Given the description of an element on the screen output the (x, y) to click on. 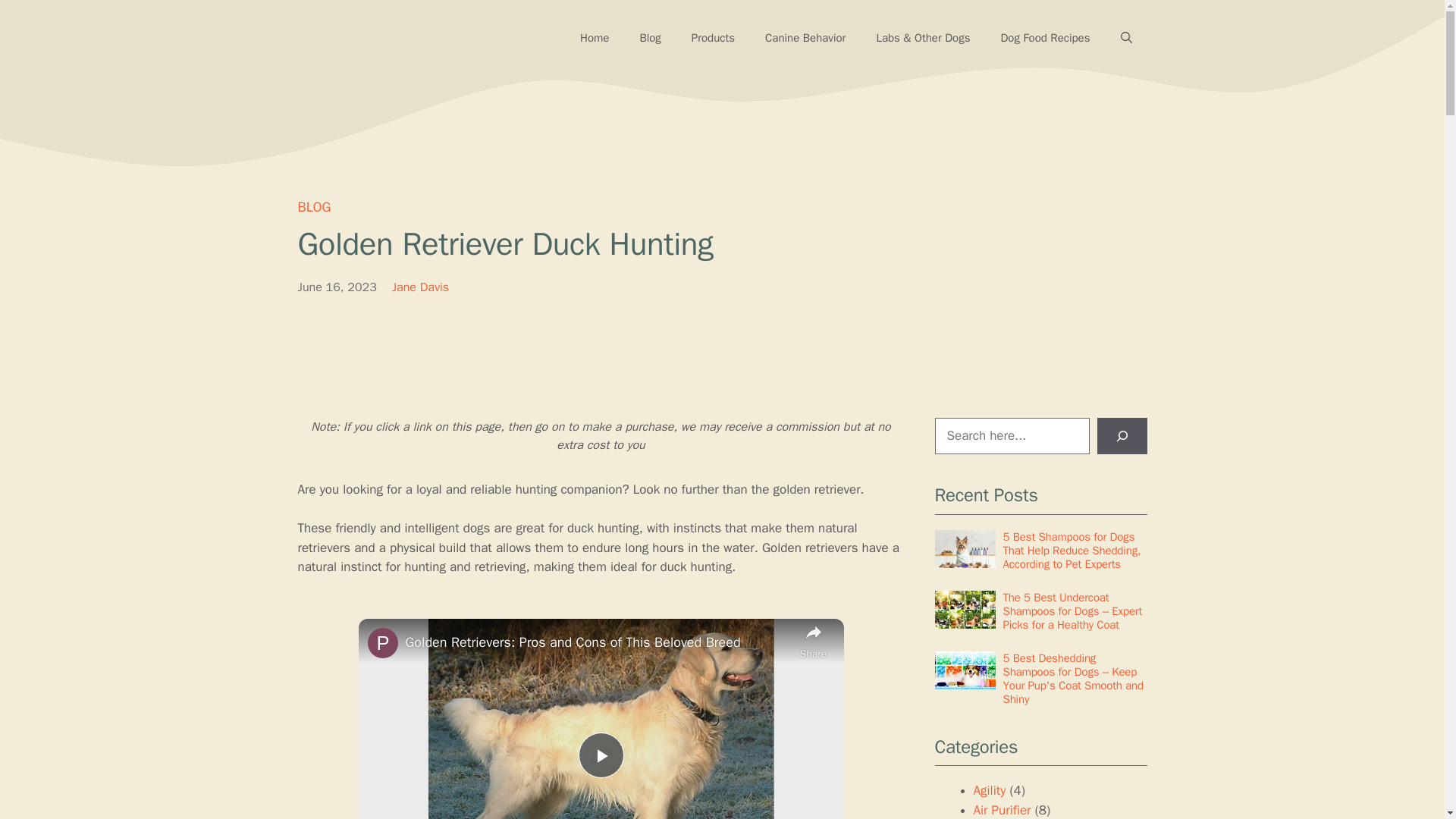
Dog Food Recipes (1045, 37)
Home (594, 37)
Play Video (600, 755)
Blog (649, 37)
Play Video (600, 755)
BLOG (313, 207)
Golden Retrievers: Pros and Cons of This Beloved Breed (598, 642)
Jane Davis (419, 287)
Products (713, 37)
Canine Behavior (804, 37)
